Given the description of an element on the screen output the (x, y) to click on. 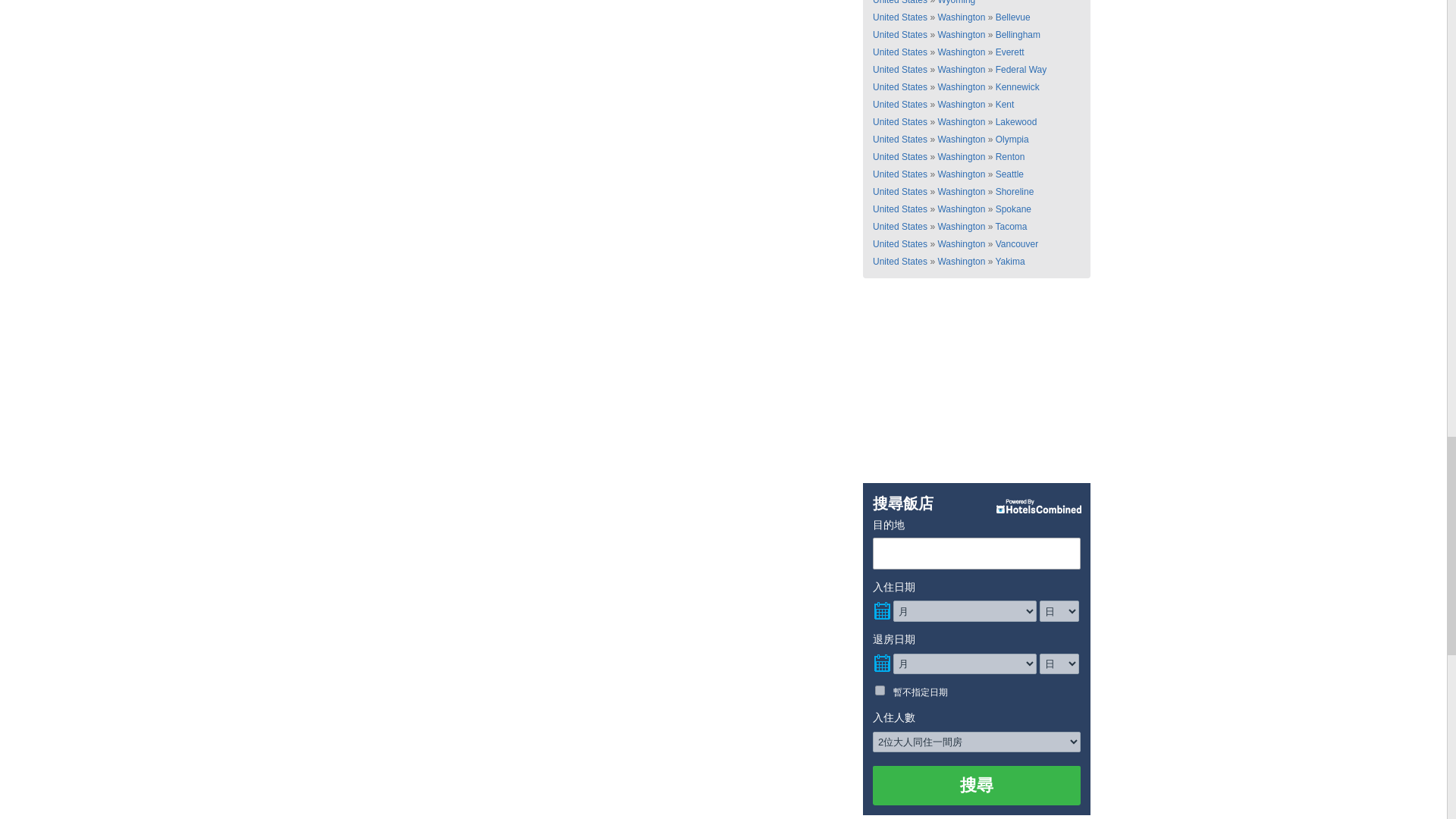
... (881, 610)
on (880, 690)
... (881, 663)
